Given the description of an element on the screen output the (x, y) to click on. 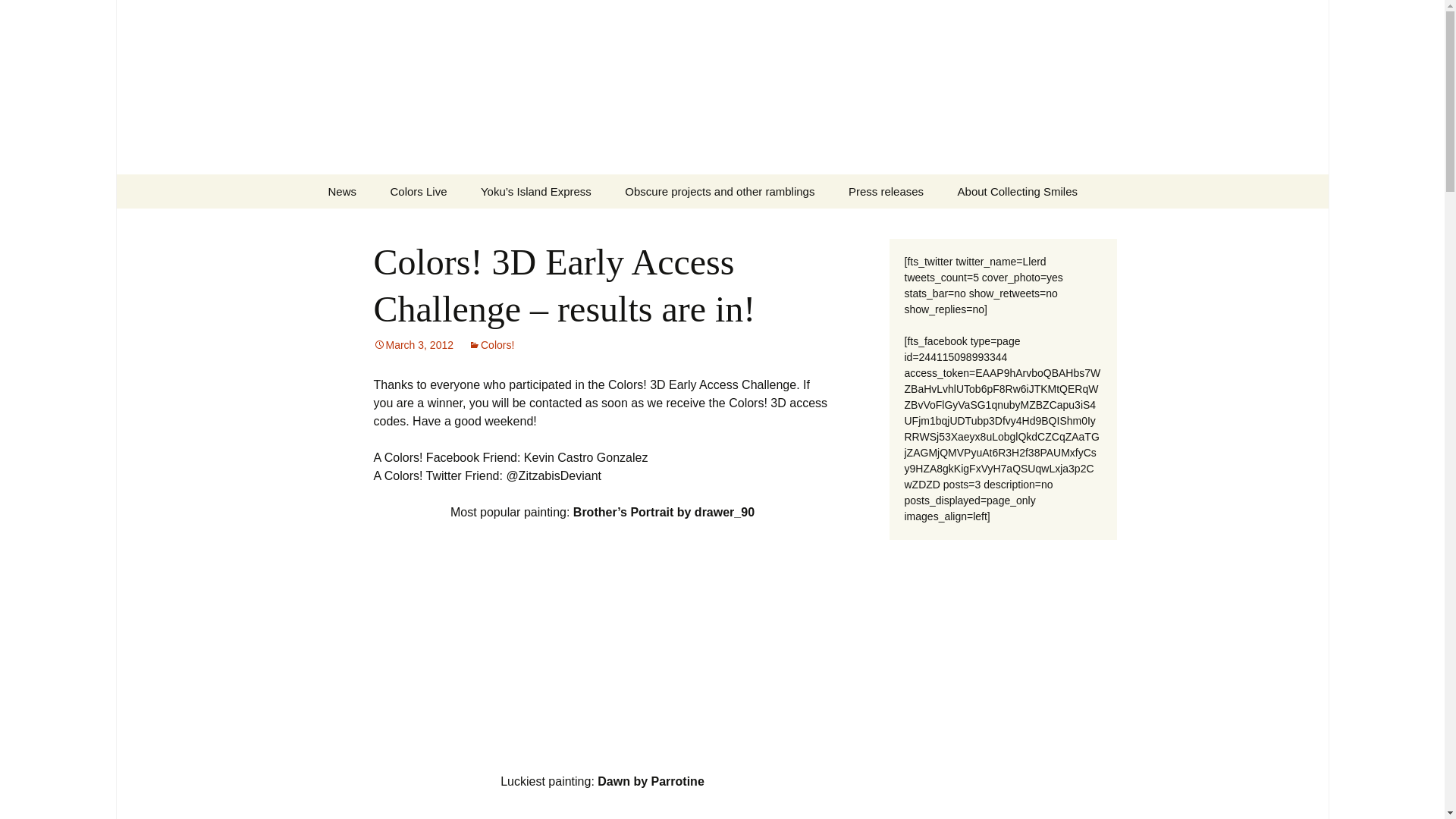
Colors Live (417, 191)
News (342, 191)
Obscure projects and other ramblings (719, 191)
Press releases (885, 191)
Colors! (490, 345)
March 3, 2012 (412, 345)
colorslive.com (449, 225)
